Given the description of an element on the screen output the (x, y) to click on. 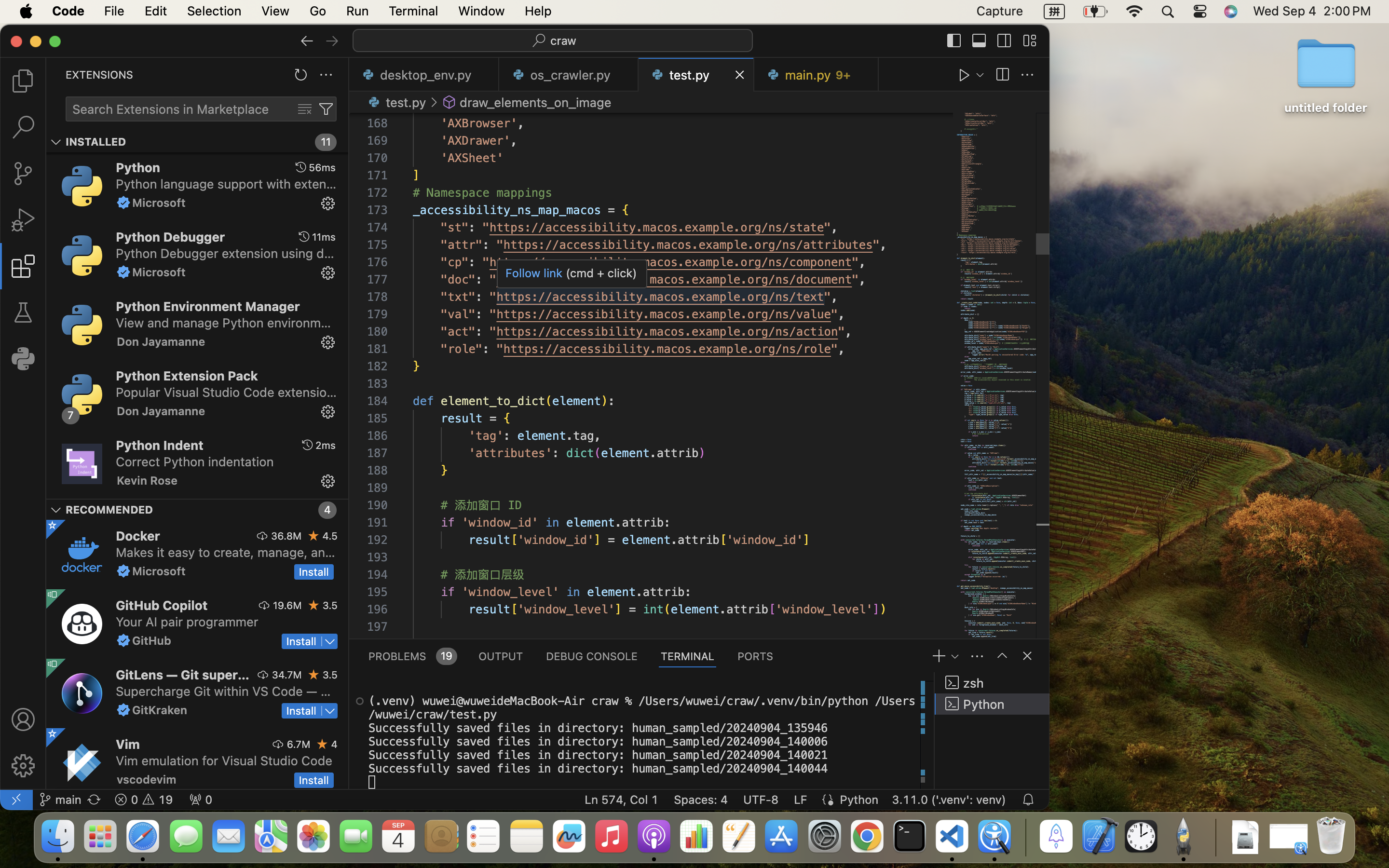
GitKraken Element type: AXStaticText (160, 709)
 Element type: AXStaticText (313, 535)
GitHub Element type: AXStaticText (151, 640)
0 desktop_env.py   Element type: AXRadioButton (424, 74)
 0 Element type: AXButton (200, 799)
